Given the description of an element on the screen output the (x, y) to click on. 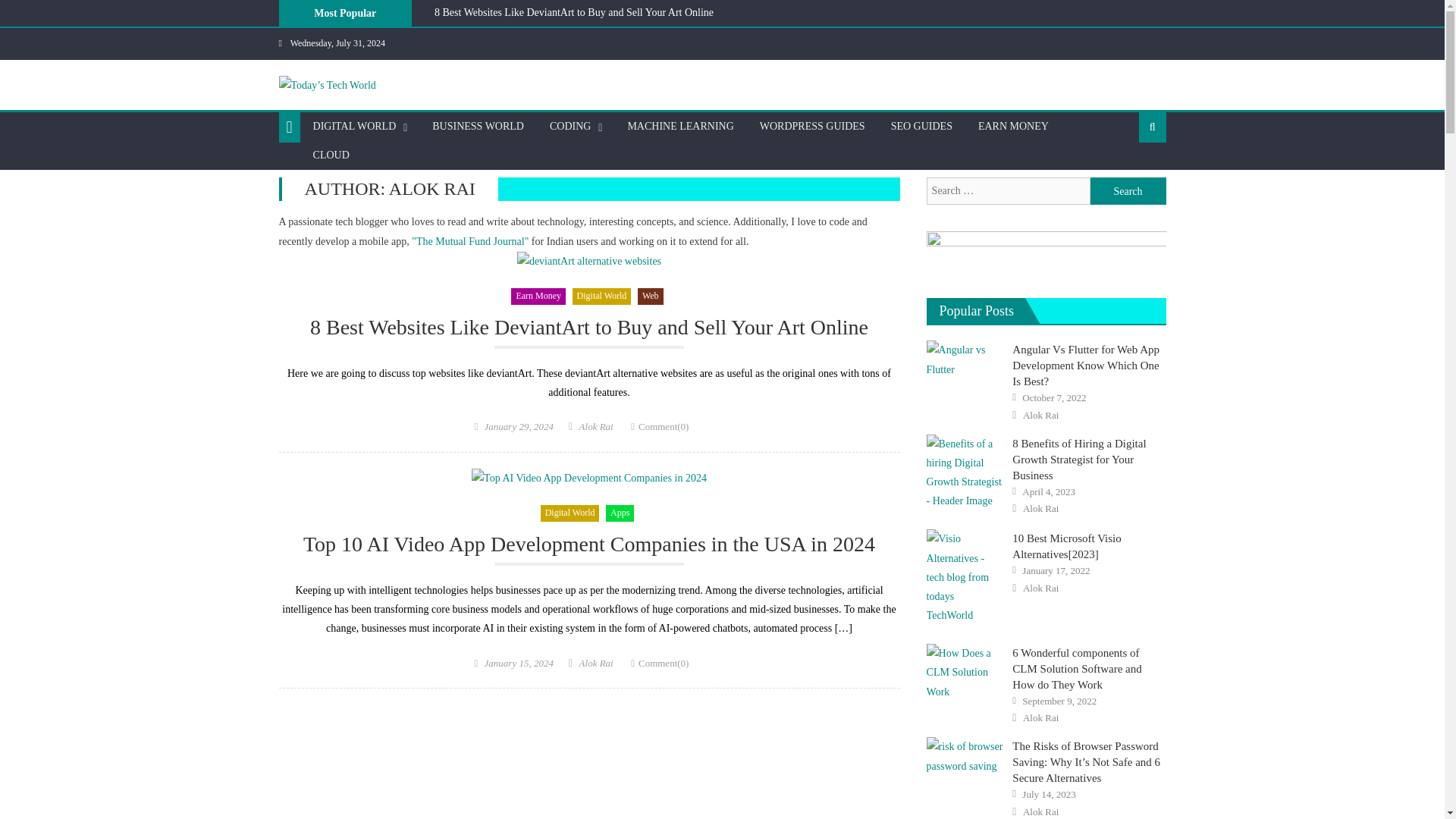
Alok Rai (595, 426)
Digital World (601, 296)
Alok Rai (595, 663)
DIGITAL WORLD (354, 126)
Digital World (569, 513)
Search (1128, 190)
Top 10 AI Video App Development Companies in the USA in 2024 (576, 30)
Apps (619, 513)
CLOUD (331, 154)
Search (1128, 176)
